Given the description of an element on the screen output the (x, y) to click on. 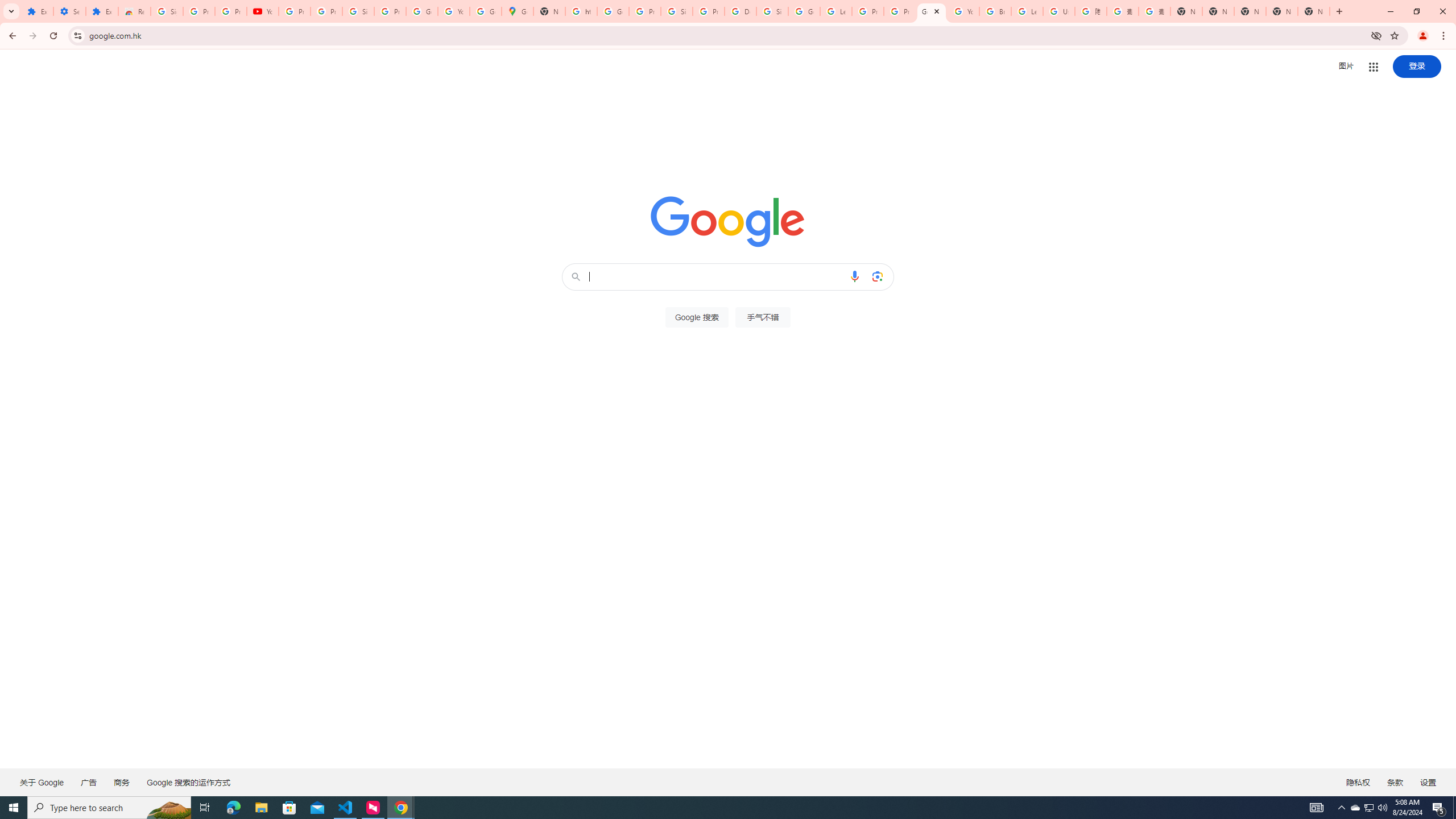
Sign in - Google Accounts (772, 11)
